Given the description of an element on the screen output the (x, y) to click on. 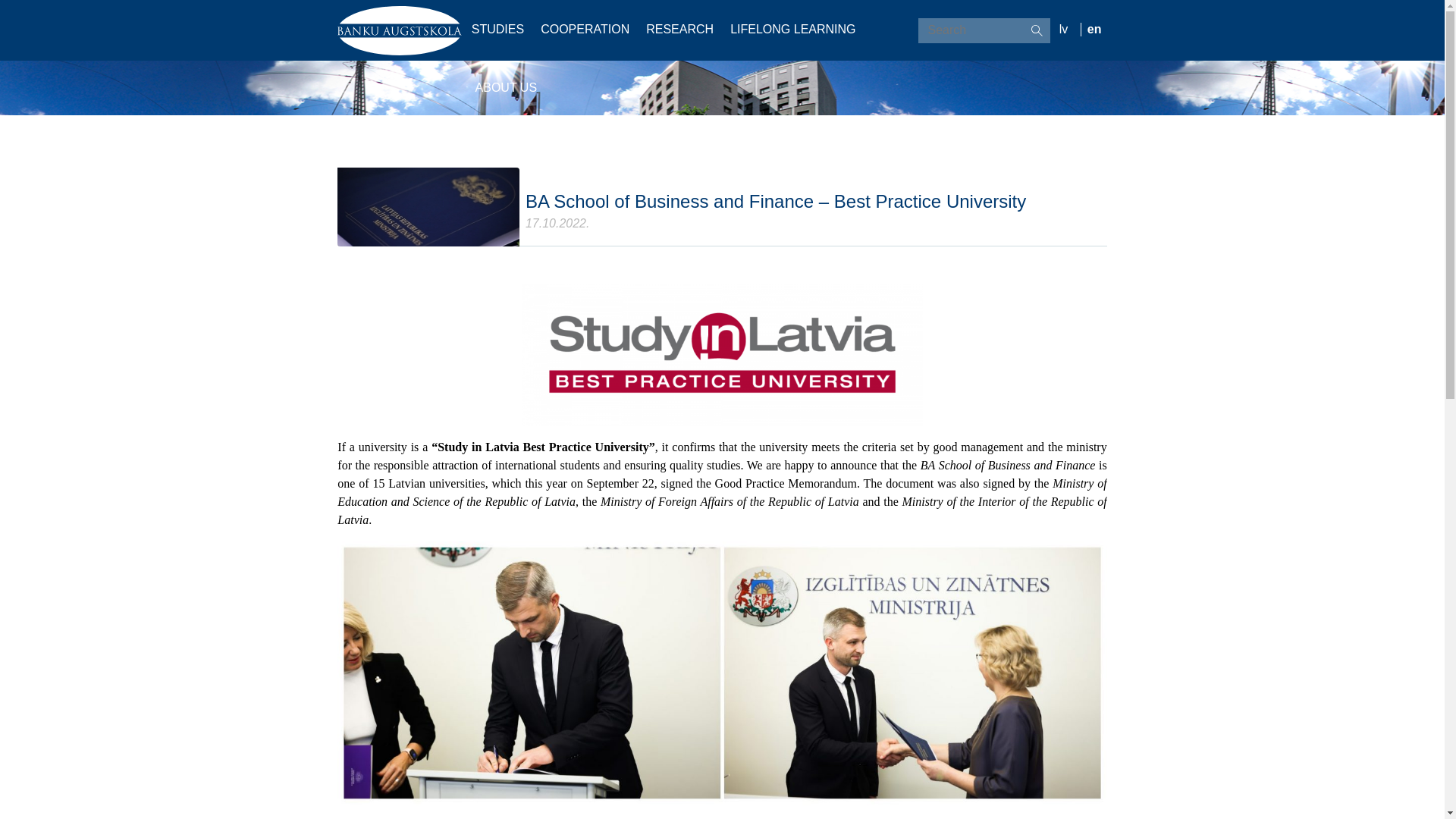
lv (1066, 29)
LIFELONG LEARNING (794, 29)
STUDIES (496, 29)
ABOUT US (507, 87)
RESEARCH (682, 29)
COOPERATION (587, 29)
en (1093, 29)
